Given the description of an element on the screen output the (x, y) to click on. 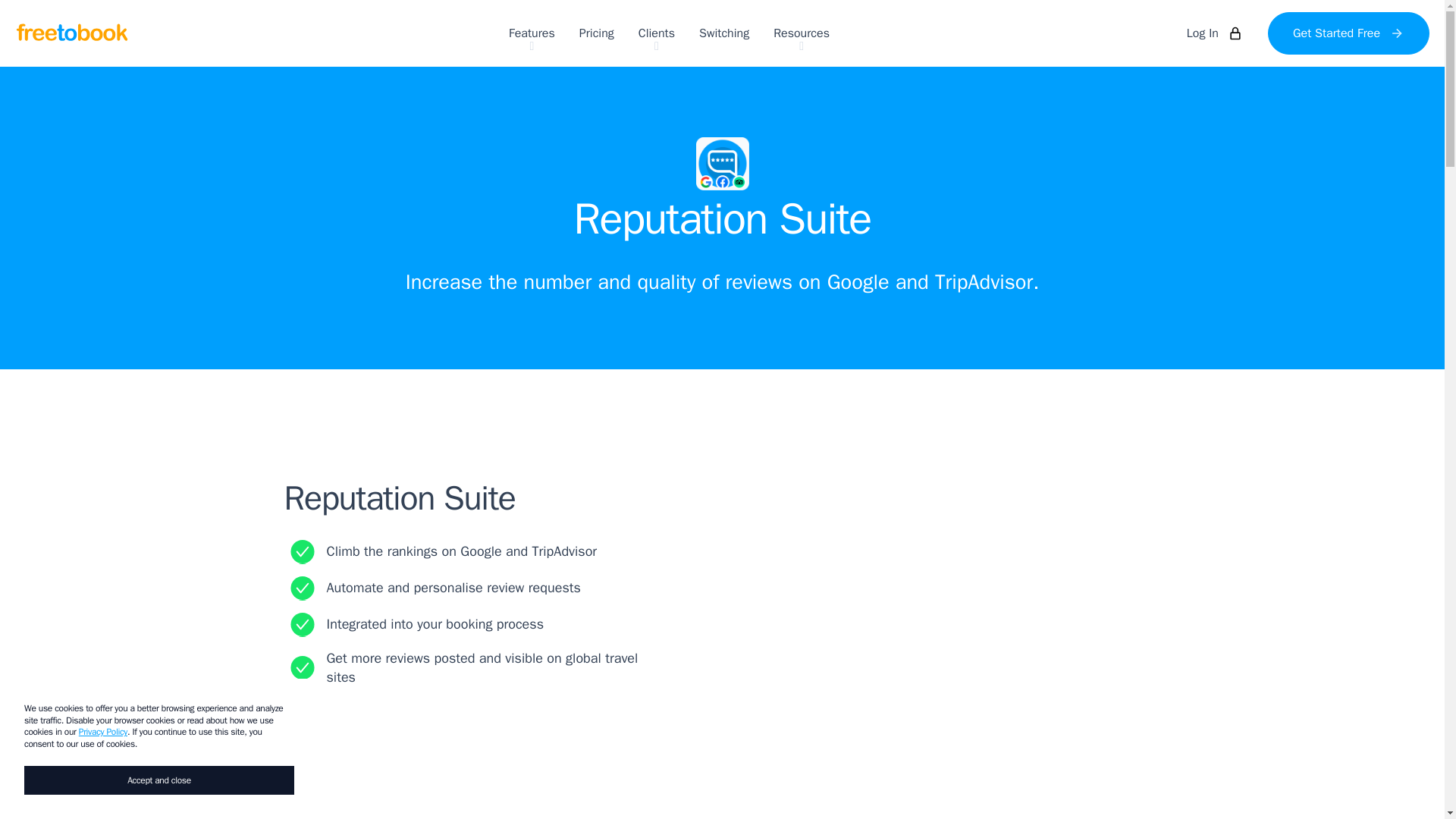
Switching (723, 32)
Log In (1214, 33)
Pricing (596, 32)
Get Started Free (1348, 33)
